Given the description of an element on the screen output the (x, y) to click on. 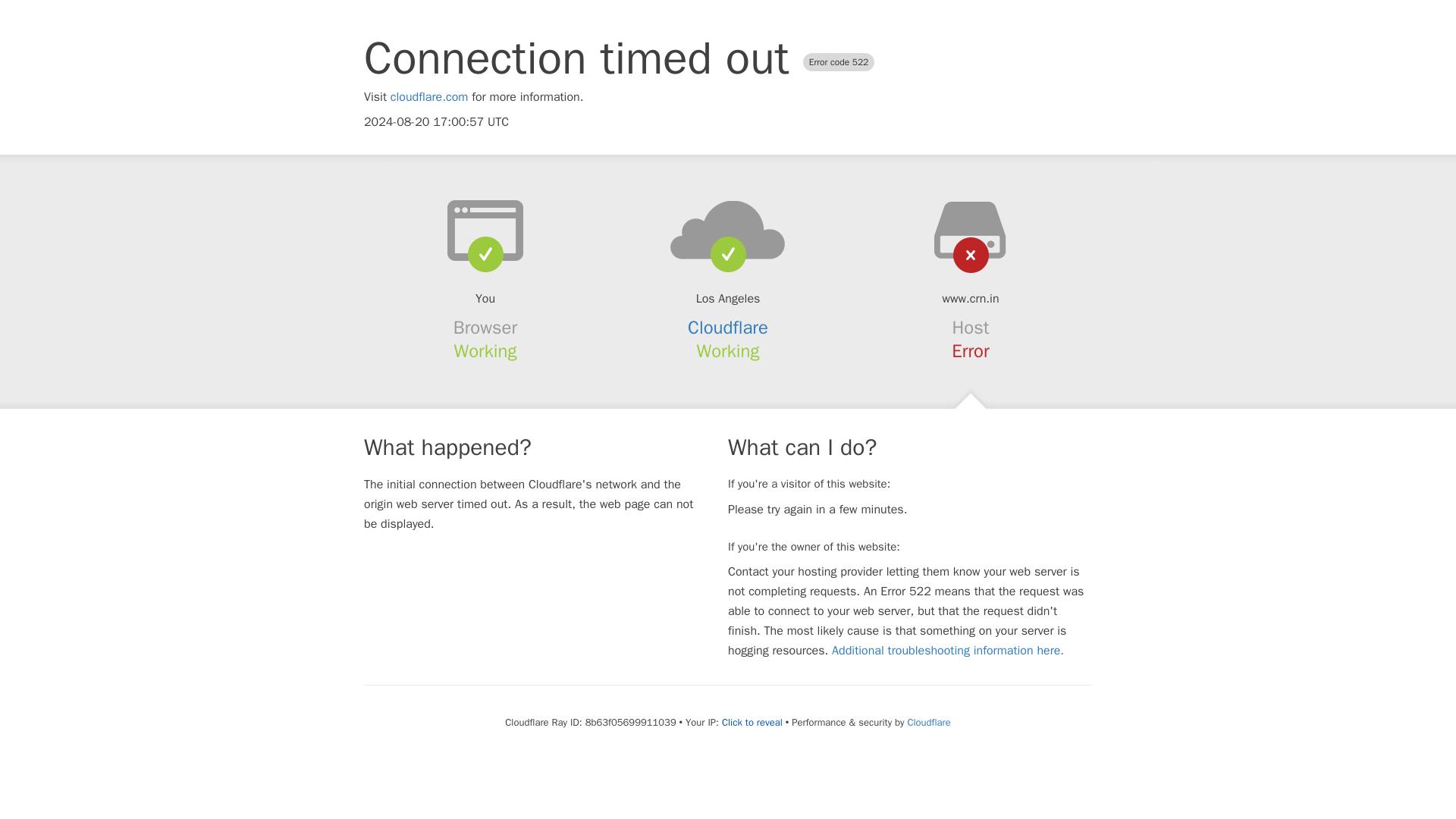
cloudflare.com (429, 96)
Cloudflare (928, 721)
Cloudflare (727, 327)
Click to reveal (752, 722)
Additional troubleshooting information here. (947, 650)
